Given the description of an element on the screen output the (x, y) to click on. 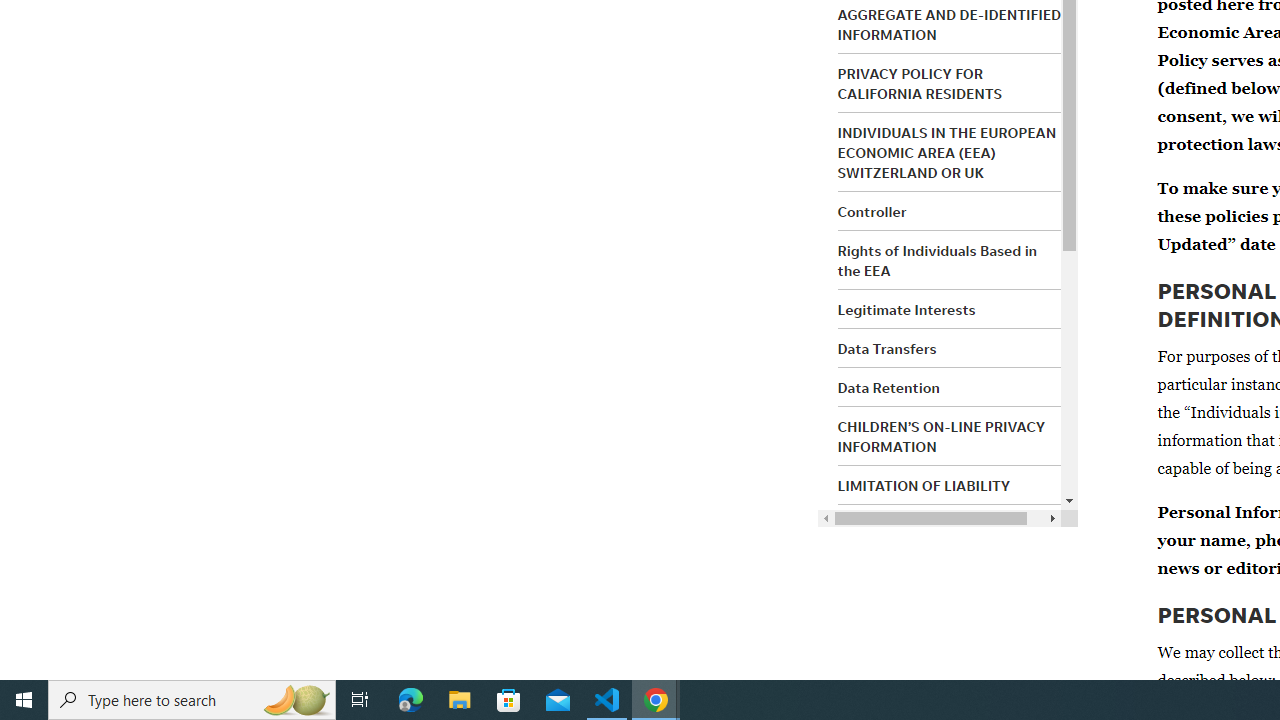
PRIVACY POLICY FOR CALIFORNIA RESIDENTS (919, 83)
Rights of Individuals Based in the EEA (937, 260)
AGGREGATE AND DE-IDENTIFIED INFORMATION (949, 24)
Controller (872, 212)
Data Retention (888, 387)
Legitimate Interests (906, 309)
INDEMNIFICATION (900, 525)
Data Transfers (886, 348)
LIMITATION OF LIABILITY (924, 485)
